Given the description of an element on the screen output the (x, y) to click on. 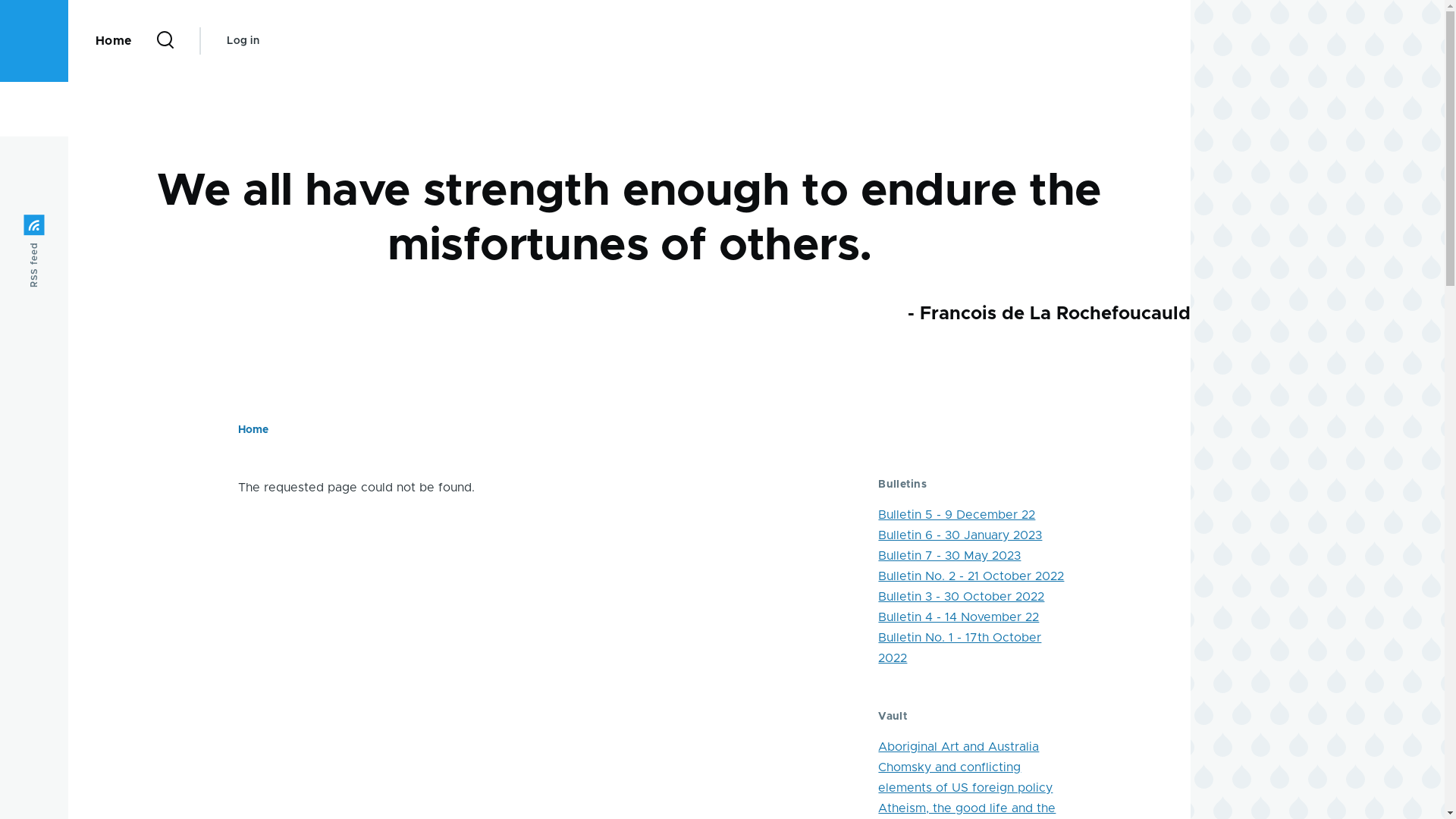
Bulletin 3 - 30 October 2022 Element type: text (961, 596)
Skip to main content Element type: text (595, 6)
Bulletin No. 1 - 17th October 2022 Element type: text (959, 647)
RSS feed Element type: text (60, 225)
Bulletin 5 - 9 December 22 Element type: text (956, 514)
Search Element type: text (953, 136)
Log in Element type: text (242, 40)
Home Element type: text (253, 429)
Chomsky and conflicting elements of US foreign policy Element type: text (965, 777)
Bulletin 4 - 14 November 22 Element type: text (958, 617)
Bulletin 6 - 30 January 2023 Element type: text (959, 535)
Bulletin No. 2 - 21 October 2022 Element type: text (970, 576)
Home Element type: text (113, 40)
Bulletin 7 - 30 May 2023 Element type: text (949, 555)
Aboriginal Art and Australia Element type: text (958, 746)
